Given the description of an element on the screen output the (x, y) to click on. 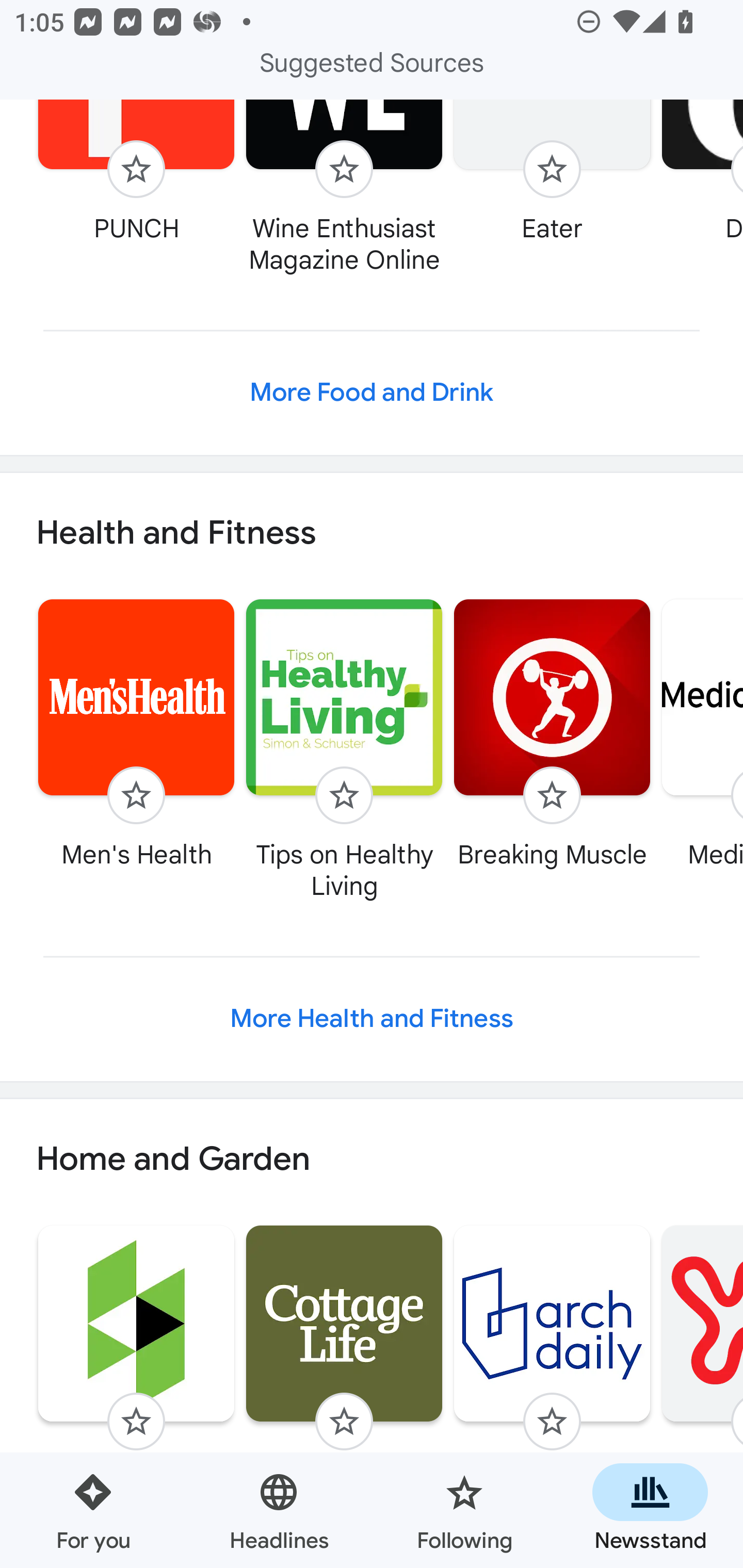
Follow PUNCH (136, 172)
Follow Wine Enthusiast Magazine Online (344, 188)
Follow Eater (552, 172)
Follow (135, 168)
Follow (343, 168)
Follow (552, 168)
More Food and Drink (371, 392)
Health and Fitness (371, 533)
Follow Men's Health (136, 733)
Follow Tips on Healthy Living (344, 749)
Follow Breaking Muscle (552, 733)
Follow (135, 795)
Follow (343, 795)
Follow (552, 795)
More Health and Fitness (371, 1018)
Home and Garden (371, 1159)
Follow Houzz (136, 1359)
Follow Cottage Life (344, 1359)
Follow ArchDaily (552, 1359)
Follow (135, 1421)
Follow (343, 1421)
Follow (552, 1421)
For you (92, 1509)
Headlines (278, 1509)
Following (464, 1509)
Newsstand (650, 1509)
